Given the description of an element on the screen output the (x, y) to click on. 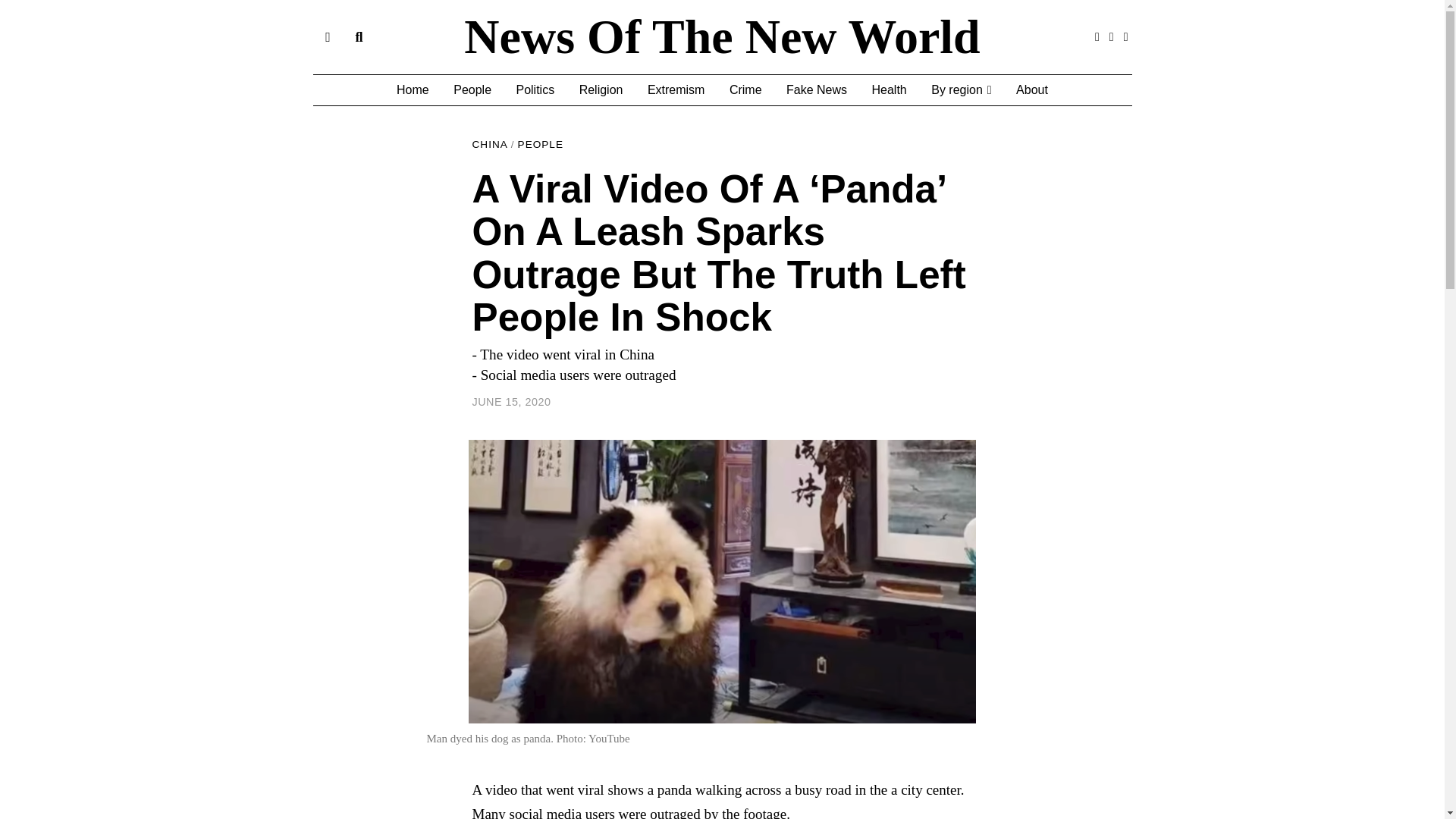
Home (412, 90)
By region (960, 90)
About (1032, 90)
PEOPLE (540, 144)
Crime (746, 90)
Extremism (676, 90)
CHINA (488, 144)
People (472, 90)
News Of The New World (722, 36)
Religion (601, 90)
Health (889, 90)
Politics (534, 90)
Fake News (816, 90)
